Given the description of an element on the screen output the (x, y) to click on. 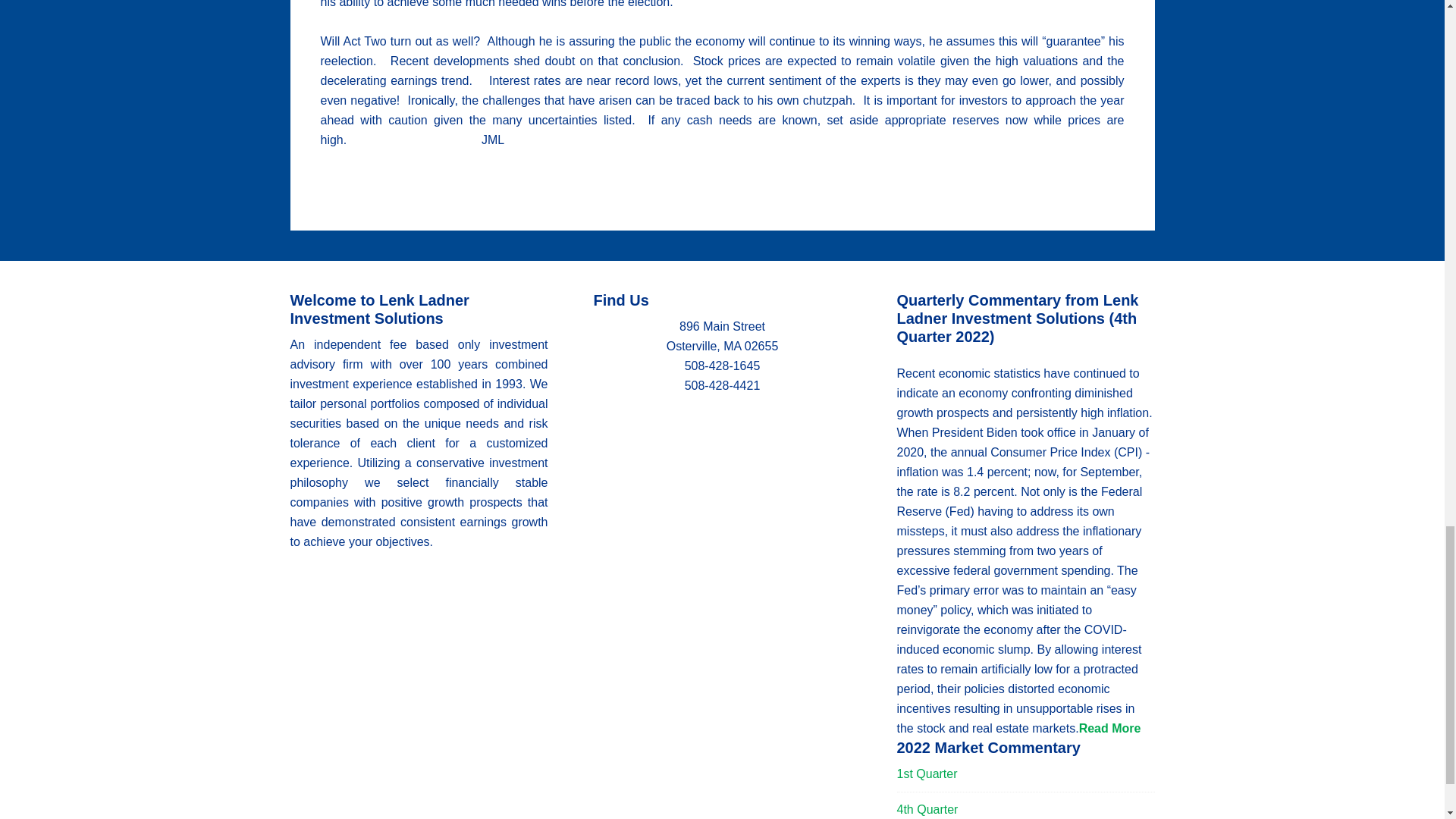
4th Quarter (927, 809)
Read More (1109, 727)
1st Quarter (926, 773)
